Given the description of an element on the screen output the (x, y) to click on. 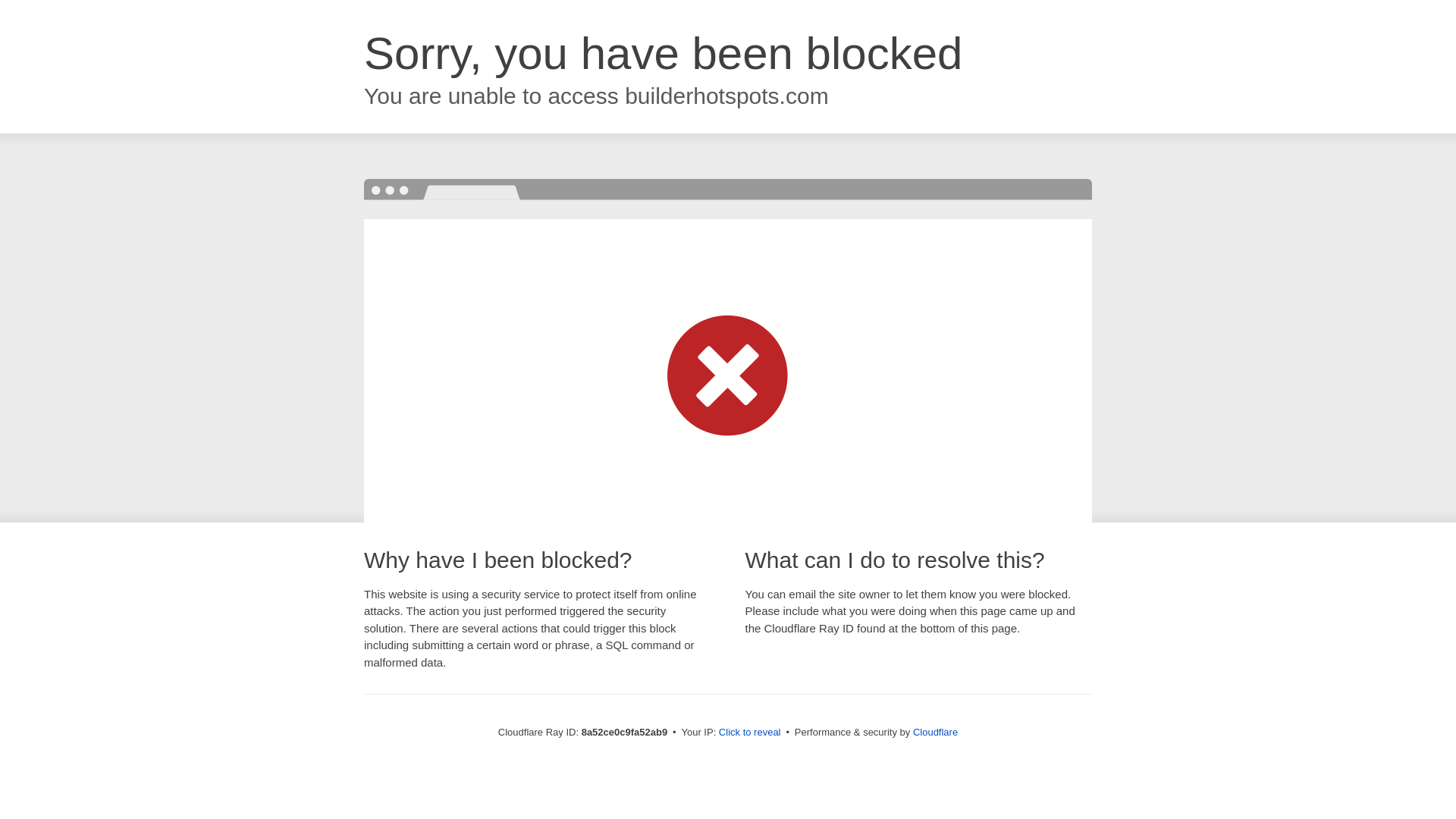
Click to reveal (749, 732)
Cloudflare (935, 731)
